Given the description of an element on the screen output the (x, y) to click on. 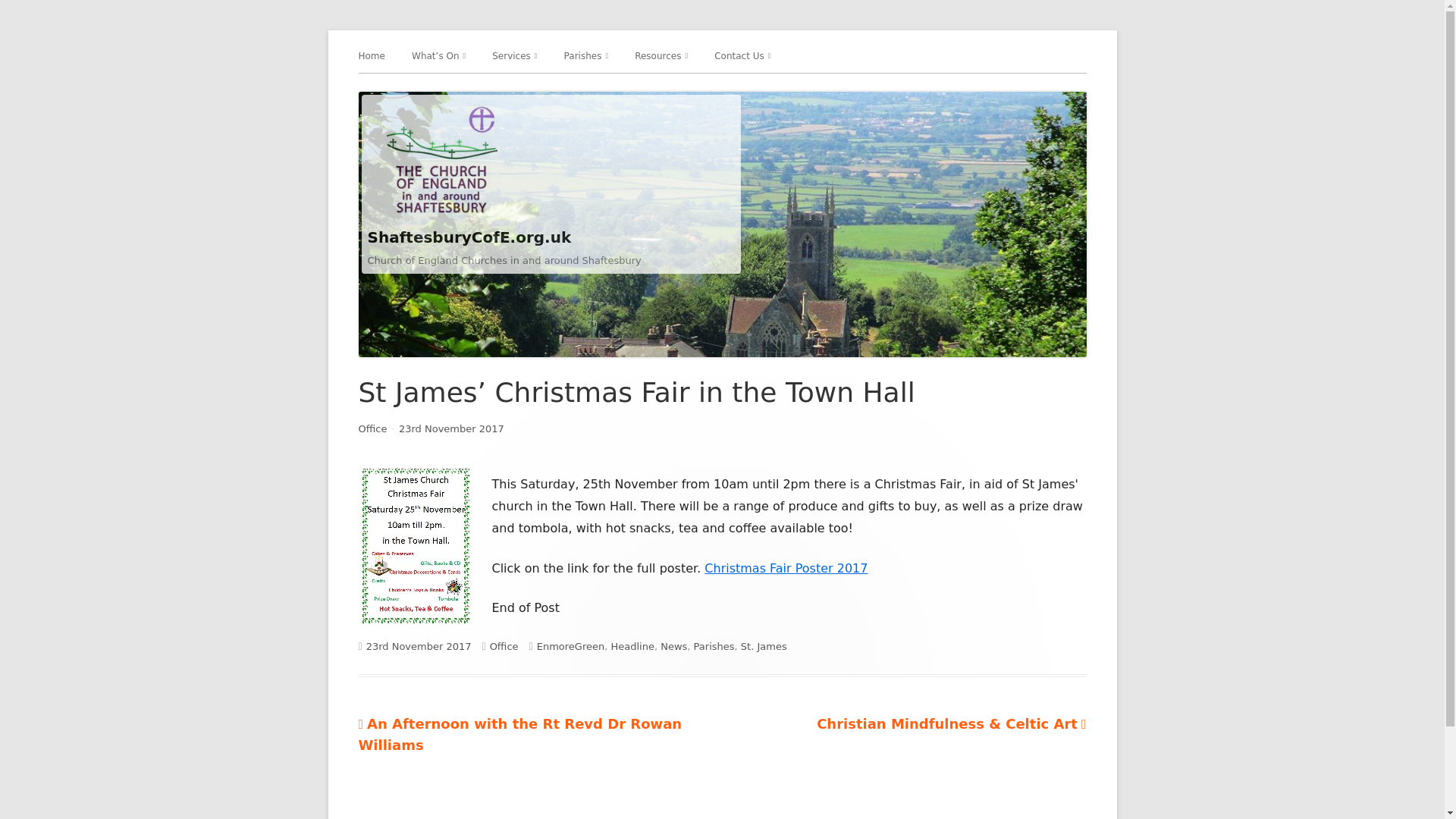
23rd November 2017 (450, 428)
Office (372, 428)
Team Office (801, 88)
ShaftesburyCofE.org.uk (468, 237)
Parishes (586, 55)
Everywhere (498, 88)
Search (28, 12)
Resources (660, 55)
Contact Us (742, 55)
Pew Sheets (721, 88)
